Given the description of an element on the screen output the (x, y) to click on. 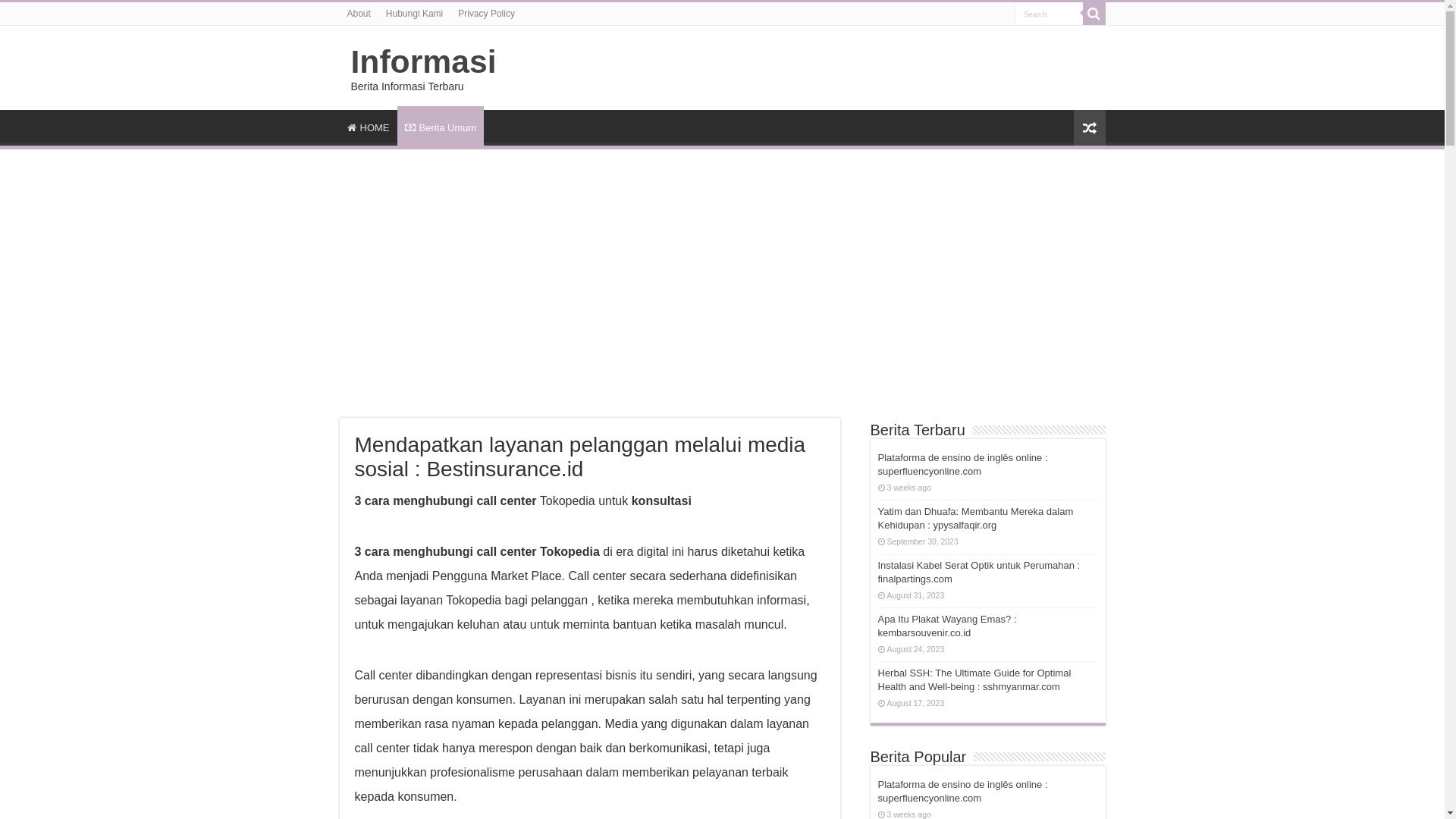
Search Element type: text (1093, 13)
Informasi Element type: text (422, 61)
Search Element type: hover (1048, 13)
Apa Itu Plakat Wayang Emas? : kembarsouvenir.co.id Element type: text (947, 625)
About Element type: text (358, 13)
Berita Umum Element type: text (440, 125)
HOME Element type: text (368, 125)
Privacy Policy Element type: text (486, 13)
Hubungi Kami Element type: text (414, 13)
Advertisement Element type: hover (721, 274)
